Given the description of an element on the screen output the (x, y) to click on. 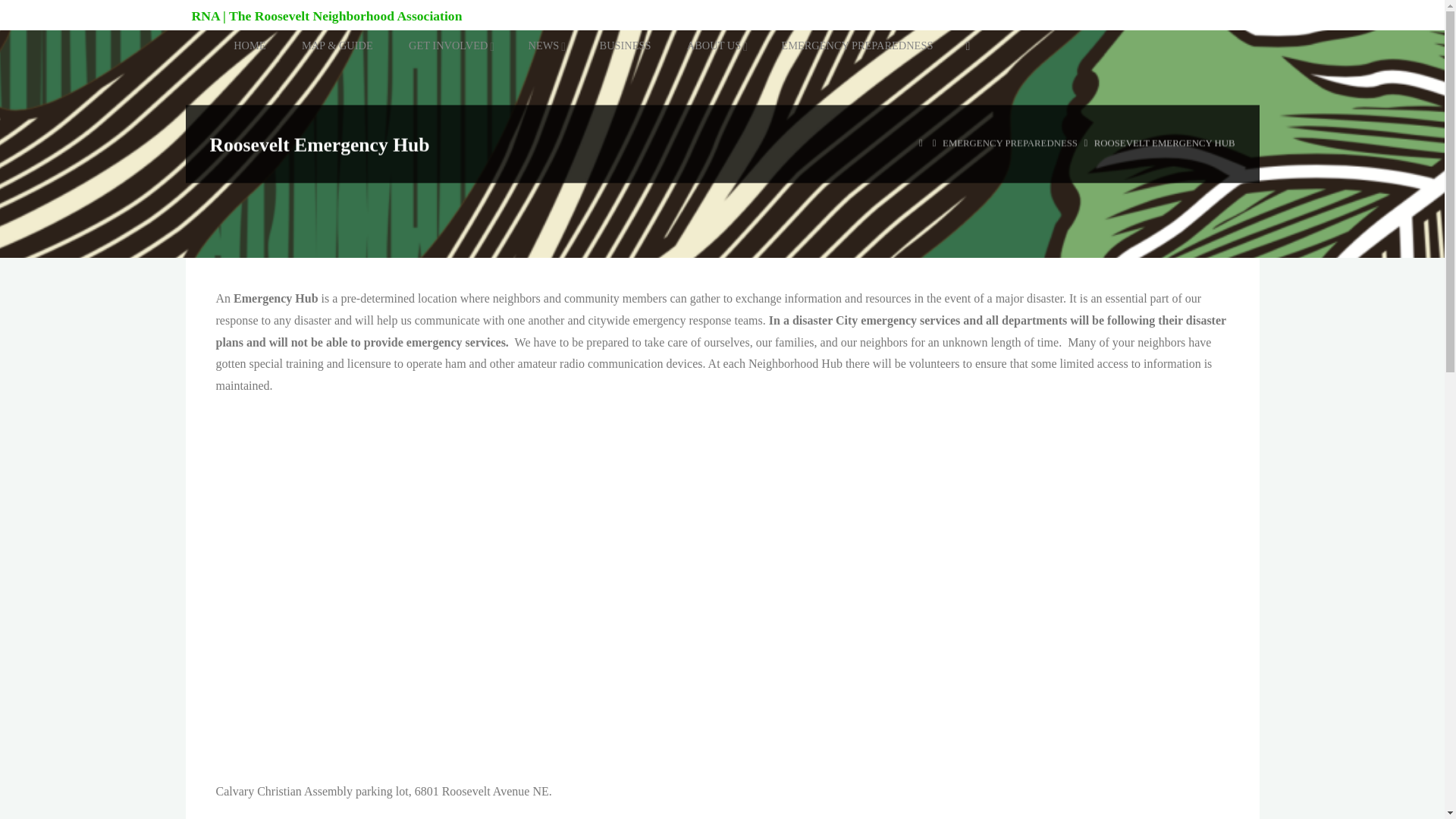
Home (920, 143)
Celebrating Seattle's Roosevelt Neighborhood (325, 15)
